Given the description of an element on the screen output the (x, y) to click on. 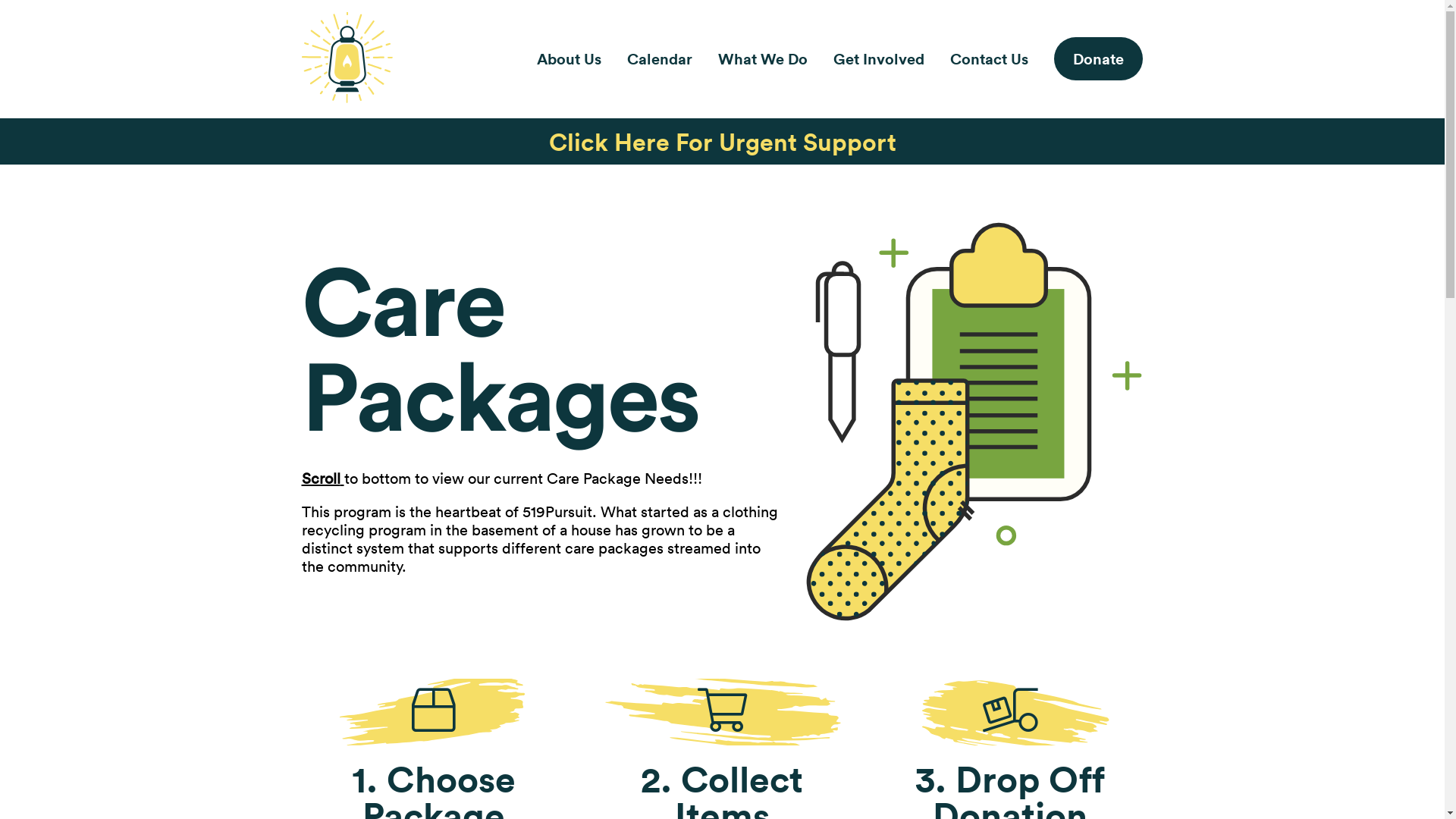
Contact Us Element type: text (989, 58)
Click Here For Urgent Support Element type: text (722, 140)
Get Involved Element type: text (878, 58)
About Us Element type: text (568, 58)
What We Do Element type: text (762, 58)
Donate Element type: text (1098, 58)
Calendar Element type: text (659, 58)
